Given the description of an element on the screen output the (x, y) to click on. 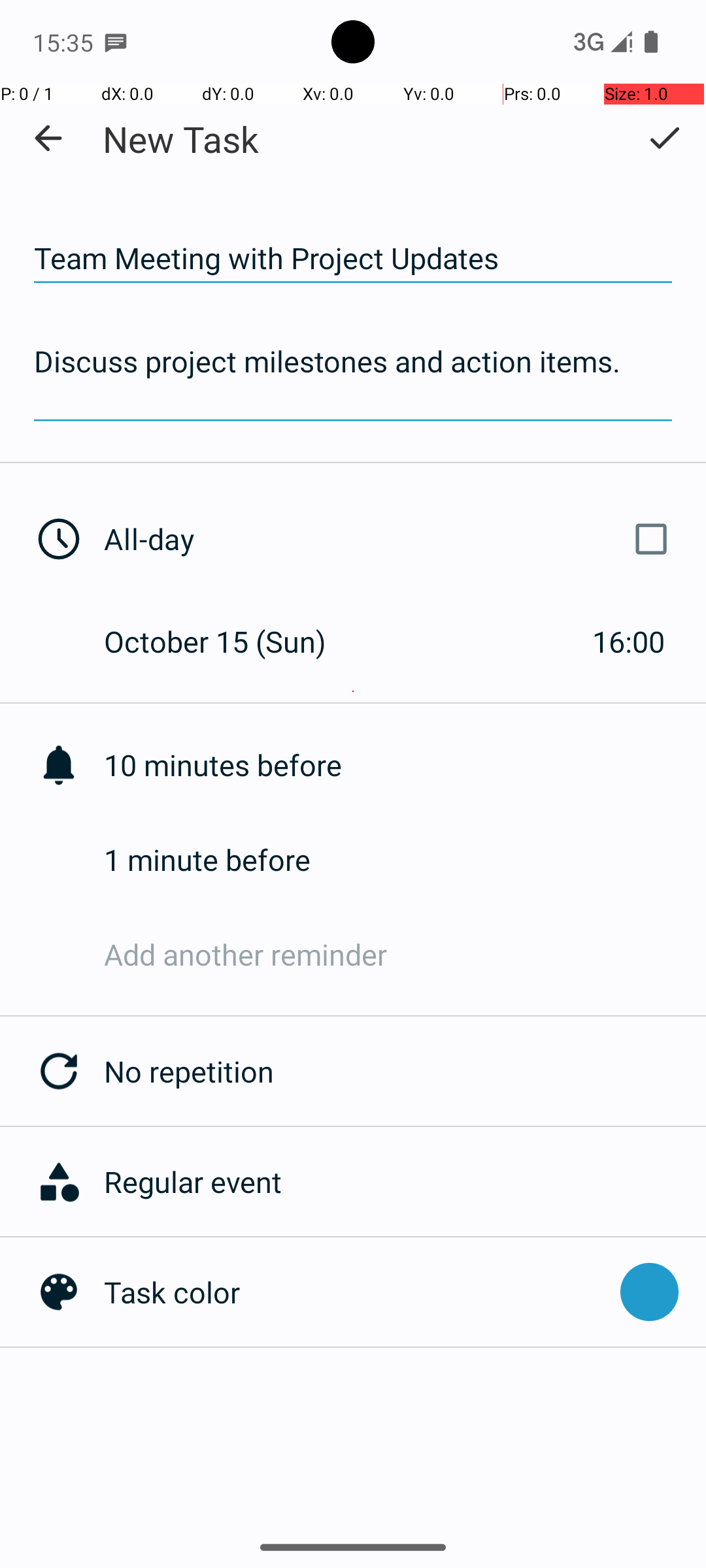
New Task Element type: android.widget.TextView (180, 138)
Team Meeting with Project Updates Element type: android.widget.EditText (352, 258)
Discuss project milestones and action items.
 Element type: android.widget.EditText (352, 379)
16:00 Element type: android.widget.TextView (628, 640)
10 minutes before Element type: android.widget.TextView (404, 764)
1 minute before Element type: android.widget.TextView (404, 859)
Add another reminder Element type: android.widget.TextView (404, 953)
No repetition Element type: android.widget.TextView (404, 1070)
Task color Element type: android.widget.TextView (354, 1291)
